Given the description of an element on the screen output the (x, y) to click on. 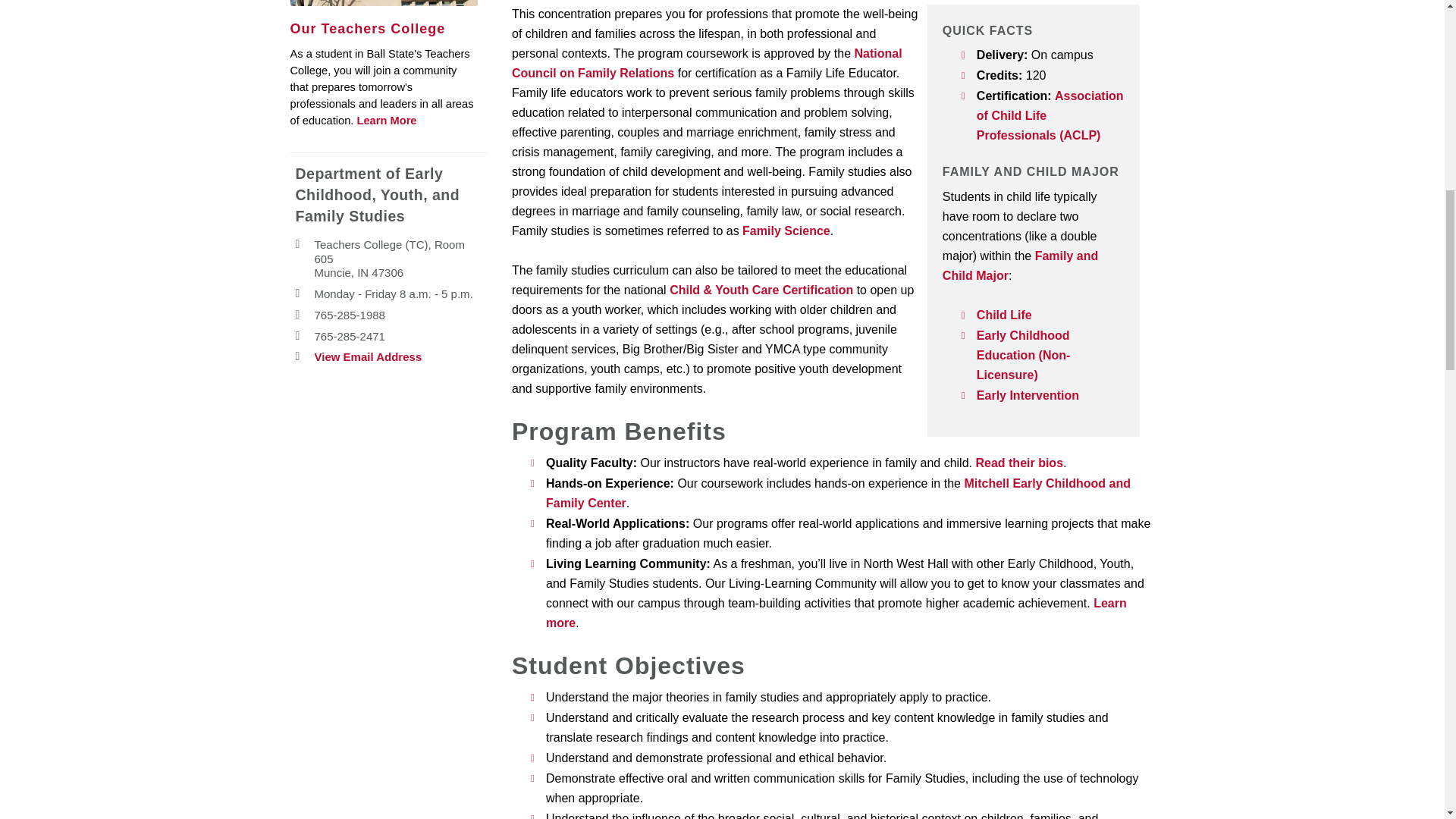
View Email Address (368, 357)
